Given the description of an element on the screen output the (x, y) to click on. 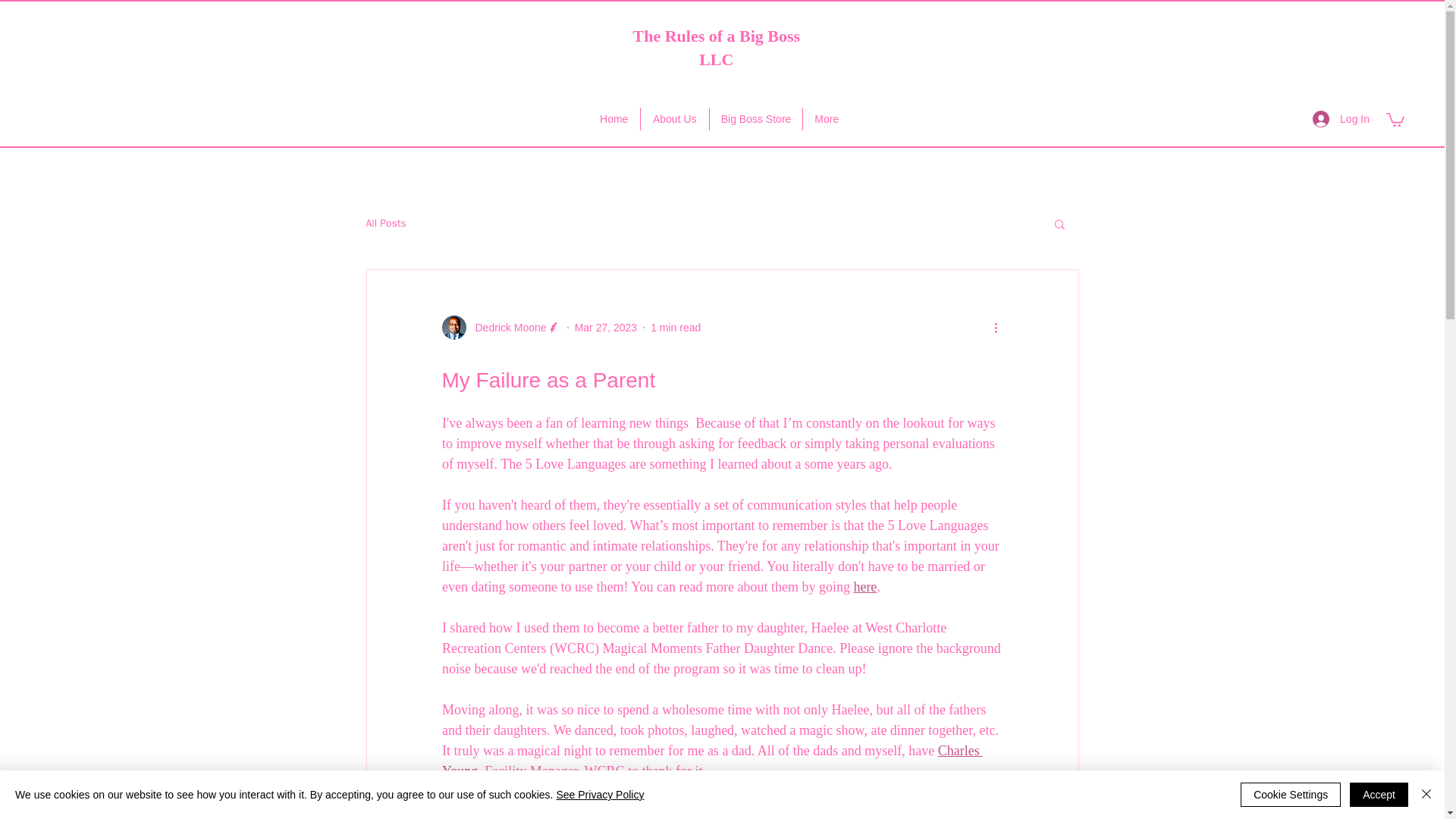
1 min read (675, 327)
Home (614, 118)
Big Boss Store (756, 118)
Mar 27, 2023 (606, 327)
All Posts (385, 223)
Charles Young (711, 760)
Dedrick Moone (505, 327)
Log In (1340, 118)
About Us (674, 118)
here (864, 586)
The Rules of a Big Boss LLC (715, 47)
Dedrick Moone (500, 327)
